Given the description of an element on the screen output the (x, y) to click on. 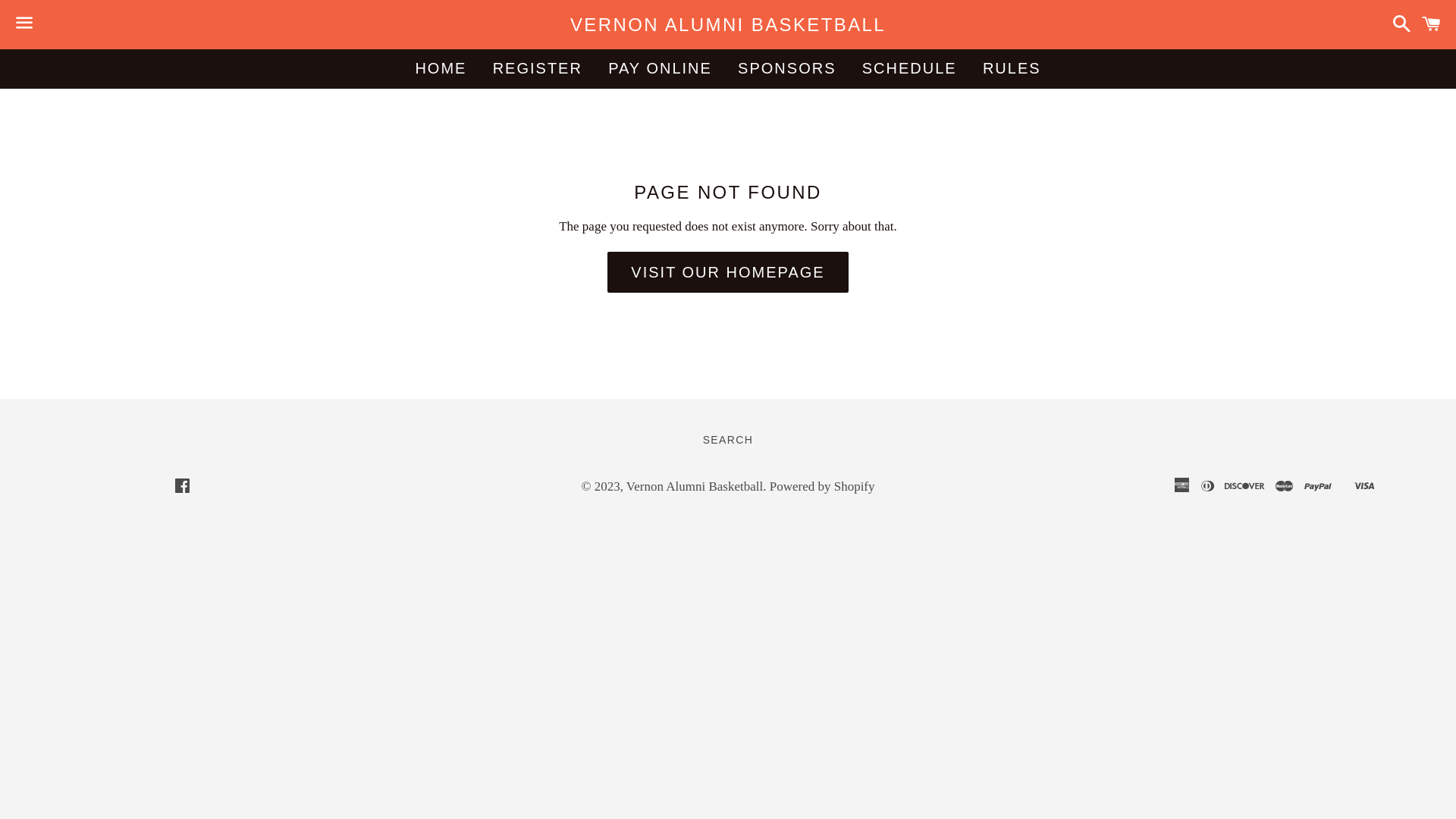
Cart Element type: text (1431, 24)
Menu Element type: text (24, 24)
Powered by Shopify Element type: text (822, 486)
RULES Element type: text (1011, 68)
Search Element type: text (1397, 24)
REGISTER Element type: text (537, 68)
SEARCH Element type: text (727, 440)
VISIT OUR HOMEPAGE Element type: text (727, 271)
VERNON ALUMNI BASKETBALL Element type: text (727, 24)
PAY ONLINE Element type: text (659, 68)
Facebook Element type: text (182, 487)
SCHEDULE Element type: text (909, 68)
HOME Element type: text (440, 68)
SPONSORS Element type: text (786, 68)
Vernon Alumni Basketball Element type: text (694, 486)
